Given the description of an element on the screen output the (x, y) to click on. 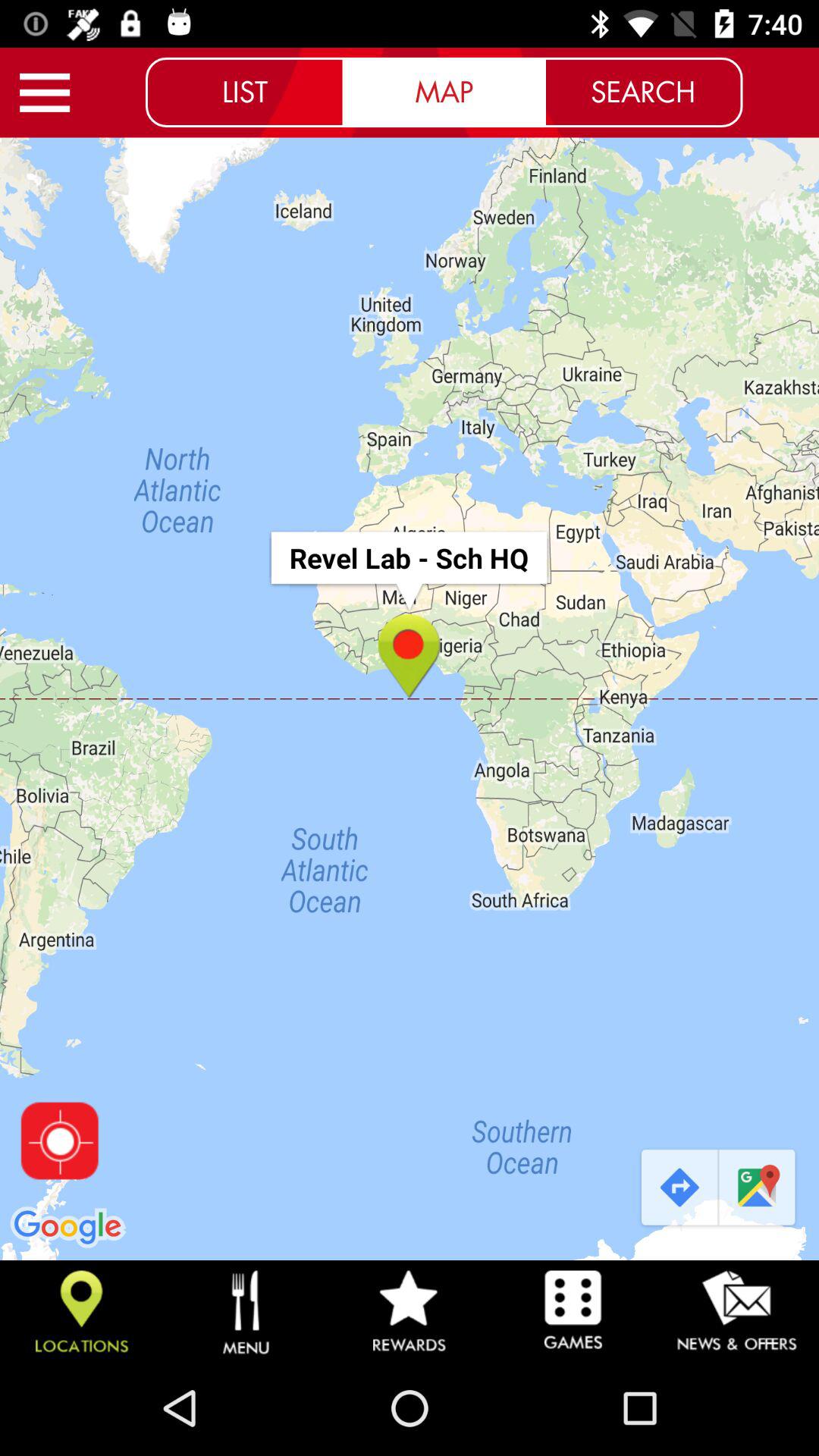
turn off the icon next to the list icon (44, 92)
